Given the description of an element on the screen output the (x, y) to click on. 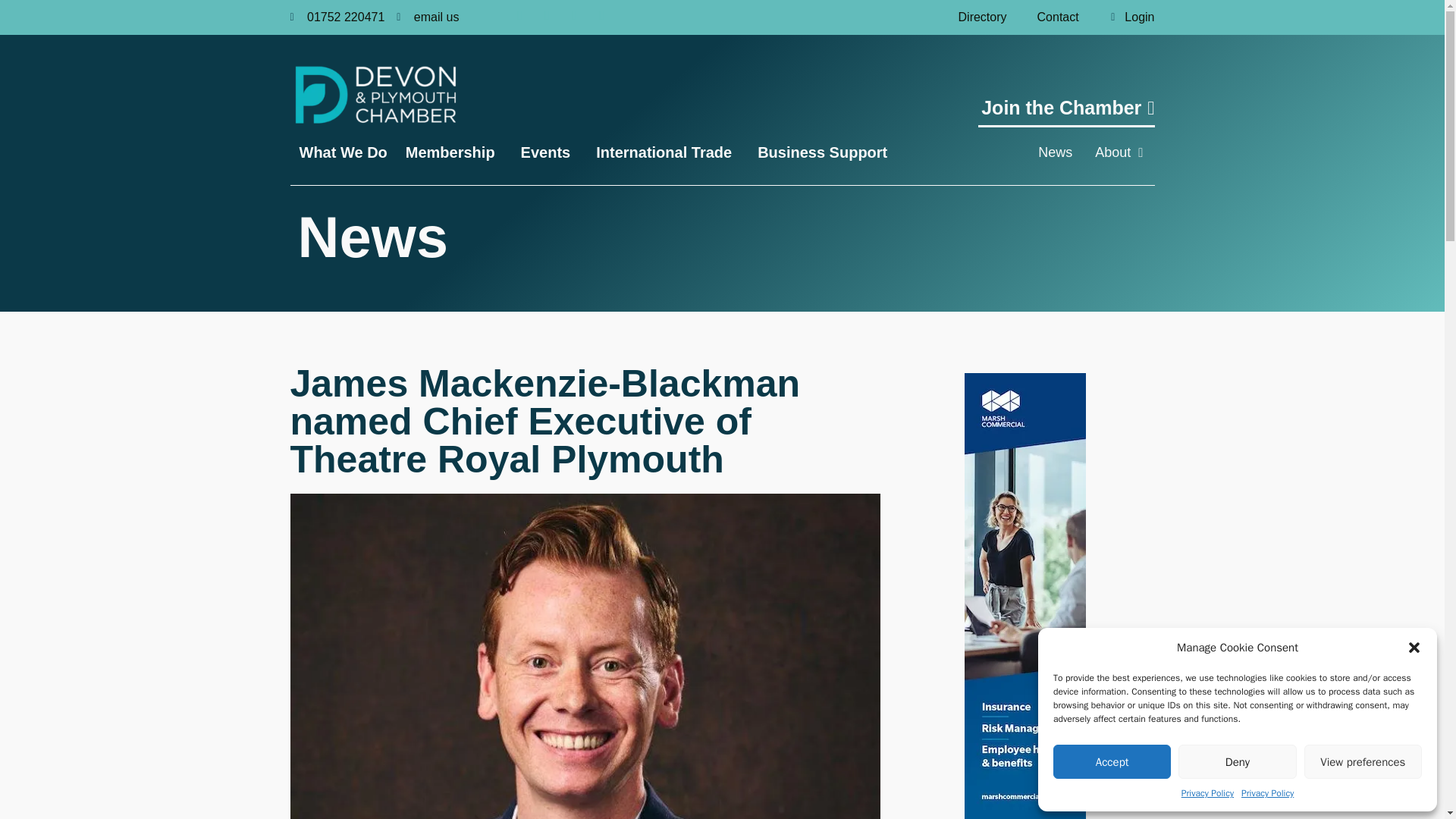
Login (1124, 17)
Accept (1111, 761)
What We Do (342, 152)
Privacy Policy (1267, 793)
Privacy Policy (1206, 793)
Contact (1058, 17)
View preferences (1363, 761)
Membership (454, 152)
Join the Chamber (1066, 112)
Events (550, 152)
Deny (1236, 761)
Directory (982, 17)
